Given the description of an element on the screen output the (x, y) to click on. 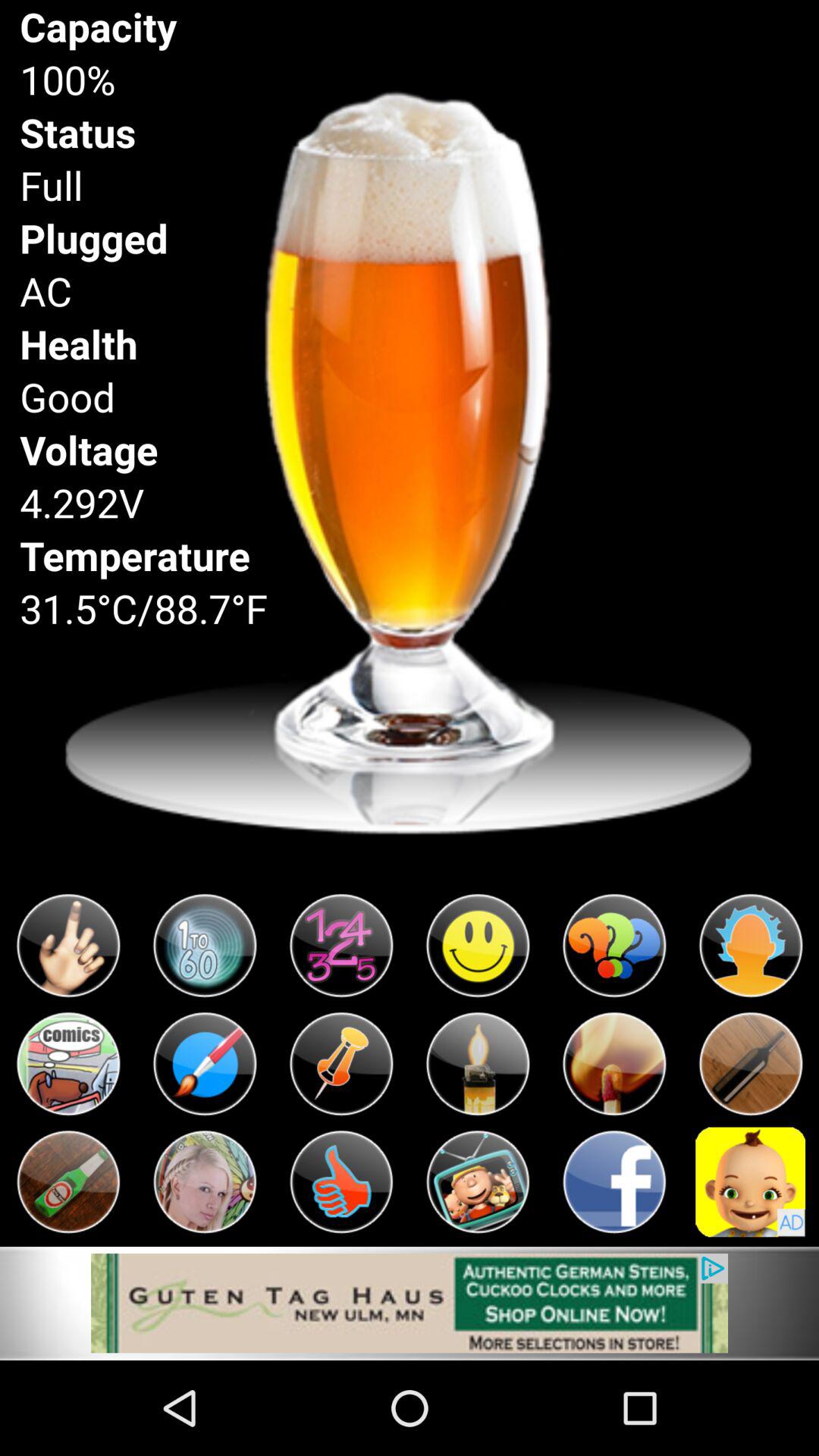
wallpaper (409, 1303)
